Given the description of an element on the screen output the (x, y) to click on. 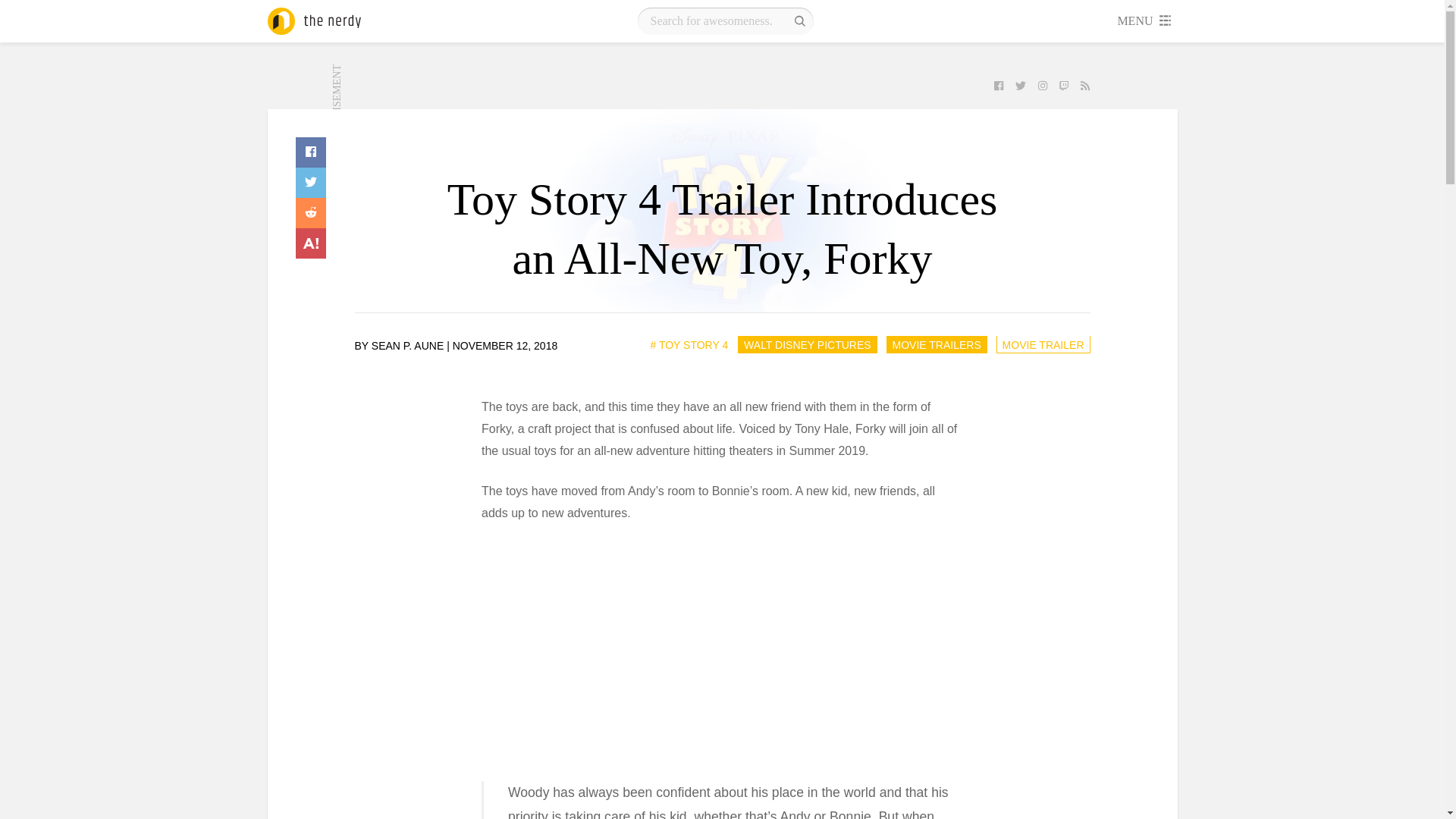
MOVIE TRAILERS (936, 343)
Share on Facebook (310, 152)
MOVIE TRAILER (1042, 343)
WALT DISNEY PICTURES (807, 343)
Share on Twitter (310, 182)
Follow this story with AlertMe (310, 243)
MENU (1145, 21)
Submit to Reddit (310, 213)
